Given the description of an element on the screen output the (x, y) to click on. 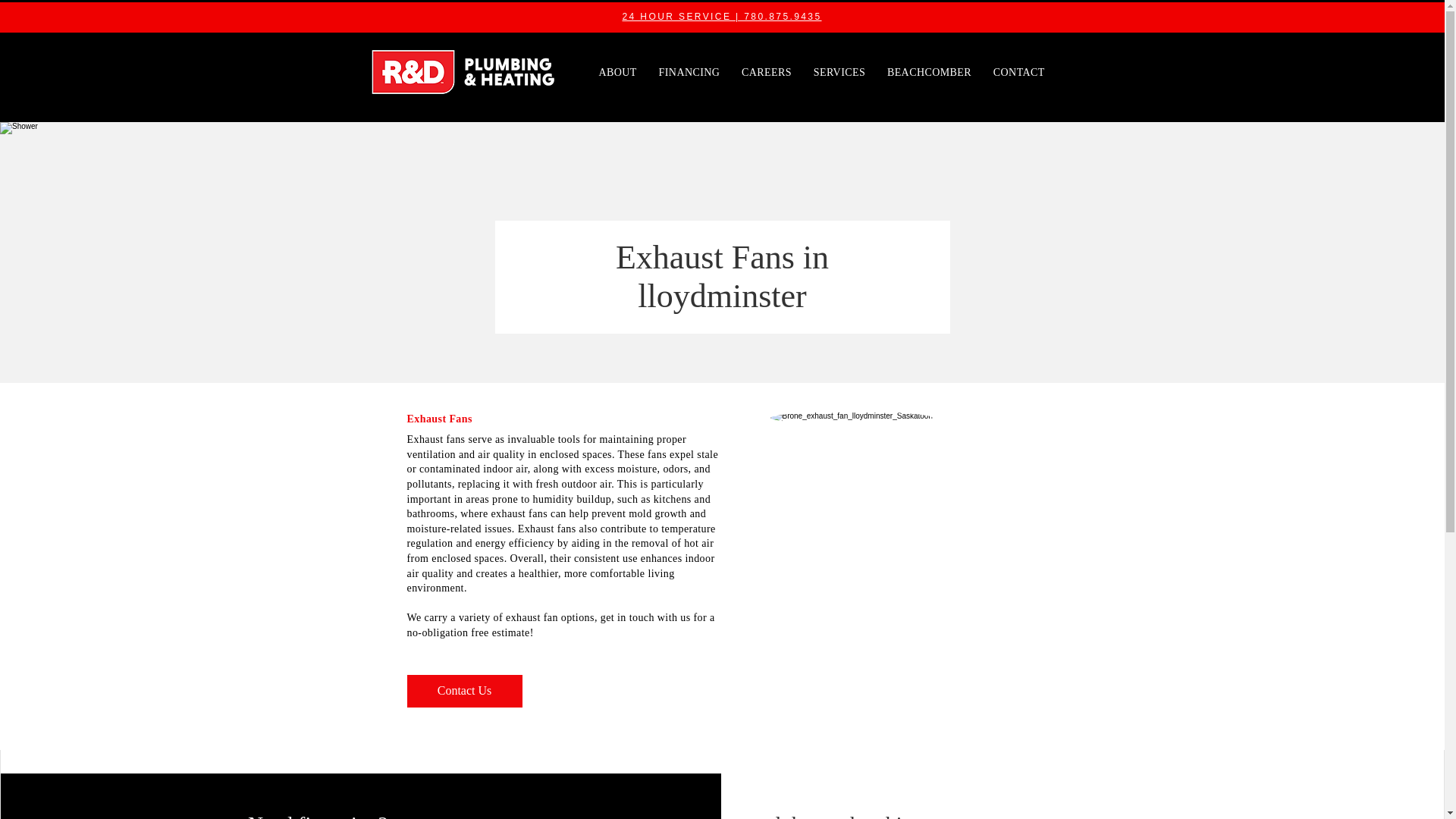
CAREERS (769, 72)
SERVICES (842, 72)
FINANCING (691, 72)
ABOUT (619, 72)
